Given the description of an element on the screen output the (x, y) to click on. 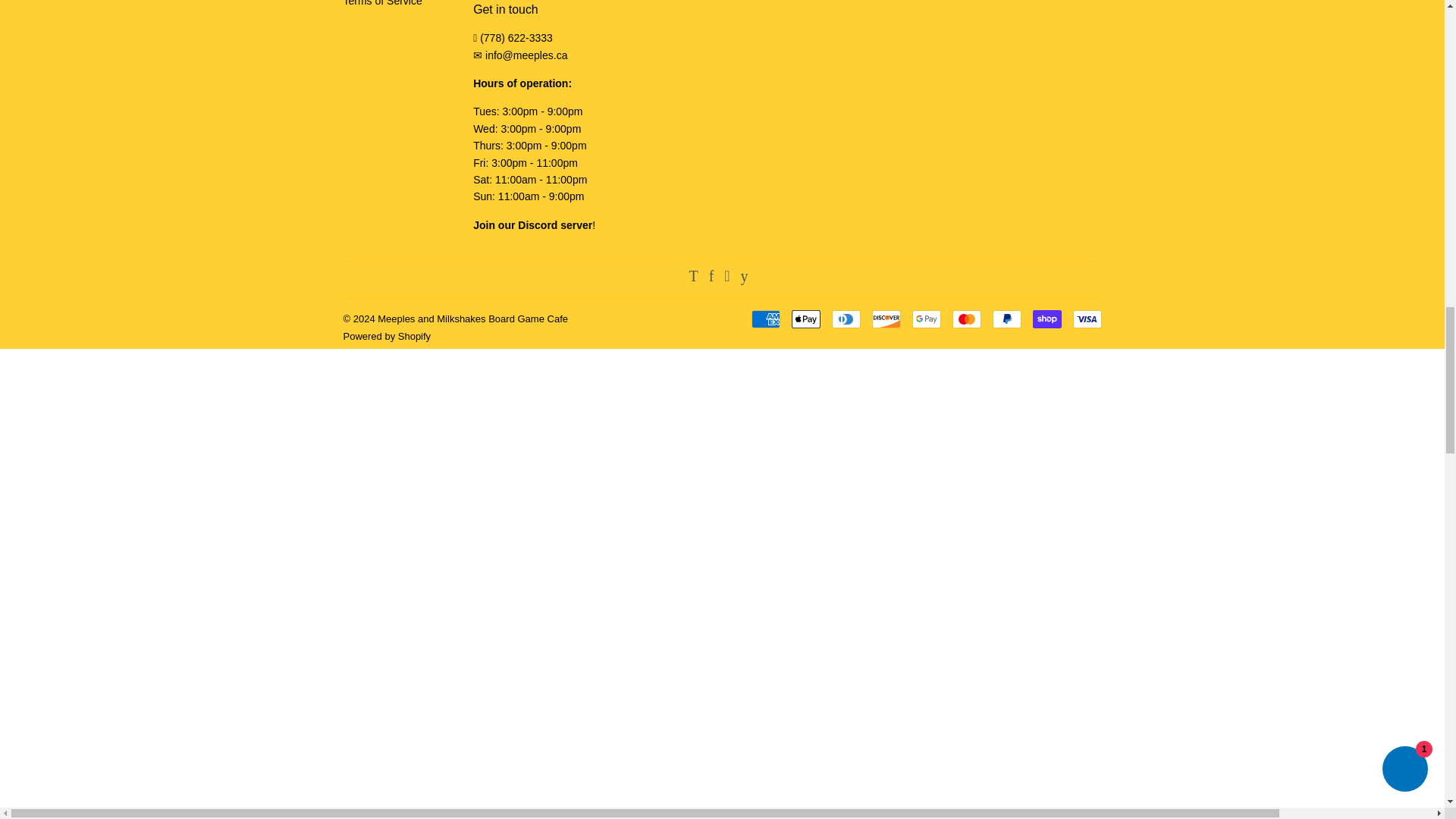
PayPal (1005, 319)
Discover (886, 319)
Mastercard (966, 319)
American Express (764, 319)
Shop Pay (1046, 319)
Google Pay (925, 319)
Meeples and Milkshakes Board Game Cafe Discord Server (532, 224)
Email Us (525, 55)
Apple Pay (806, 319)
Diners Club (845, 319)
Visa (1085, 319)
